Given the description of an element on the screen output the (x, y) to click on. 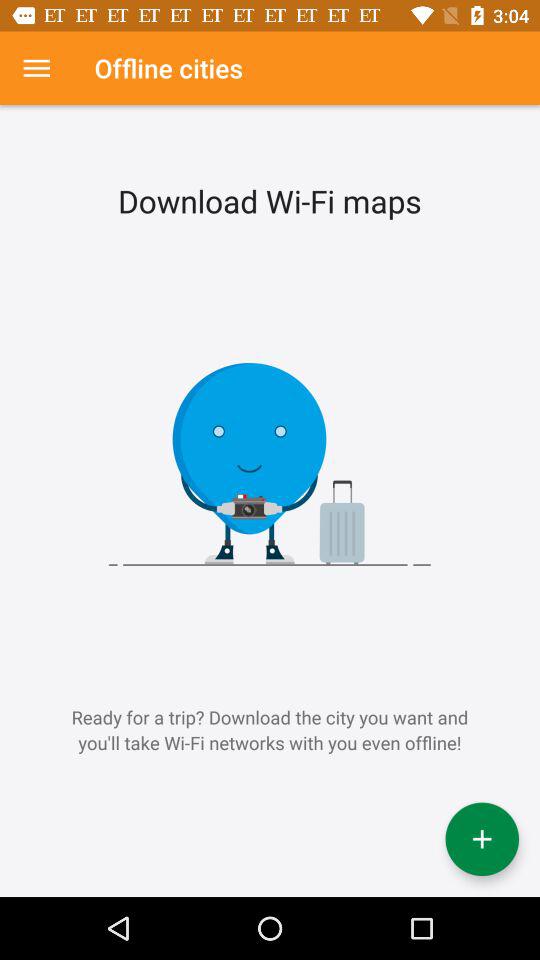
select item to the left of the offline cities item (36, 68)
